Given the description of an element on the screen output the (x, y) to click on. 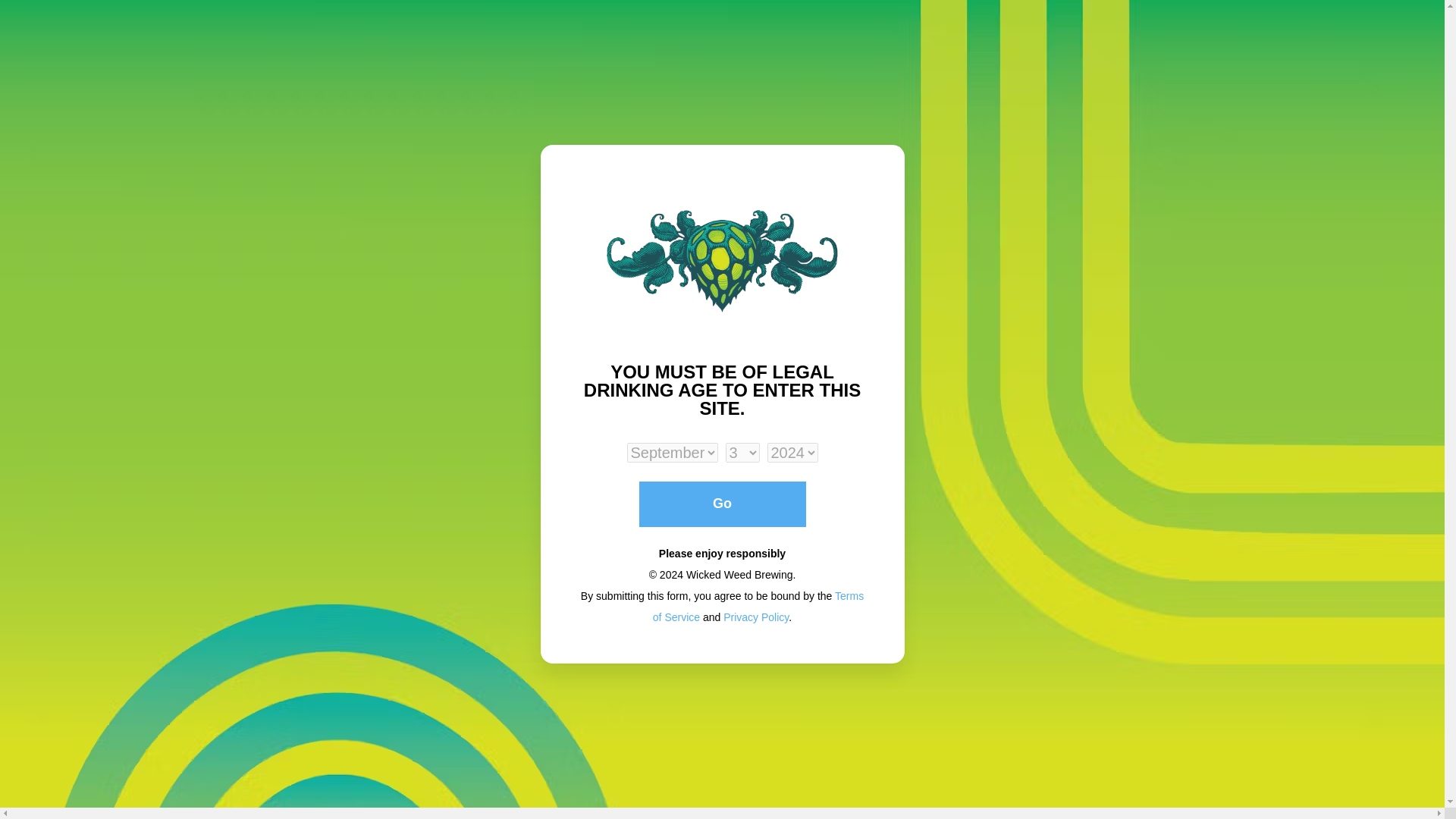
Go (722, 503)
Instagram IconThe Instagram service icon (63, 793)
Cultura (85, 405)
Facebook IconThe Facebook service icon (84, 793)
About (85, 508)
Events (85, 475)
Brew Pub (85, 274)
Husk Charleston (644, 272)
8ARM (722, 272)
Cultura-103 (1213, 312)
